Given the description of an element on the screen output the (x, y) to click on. 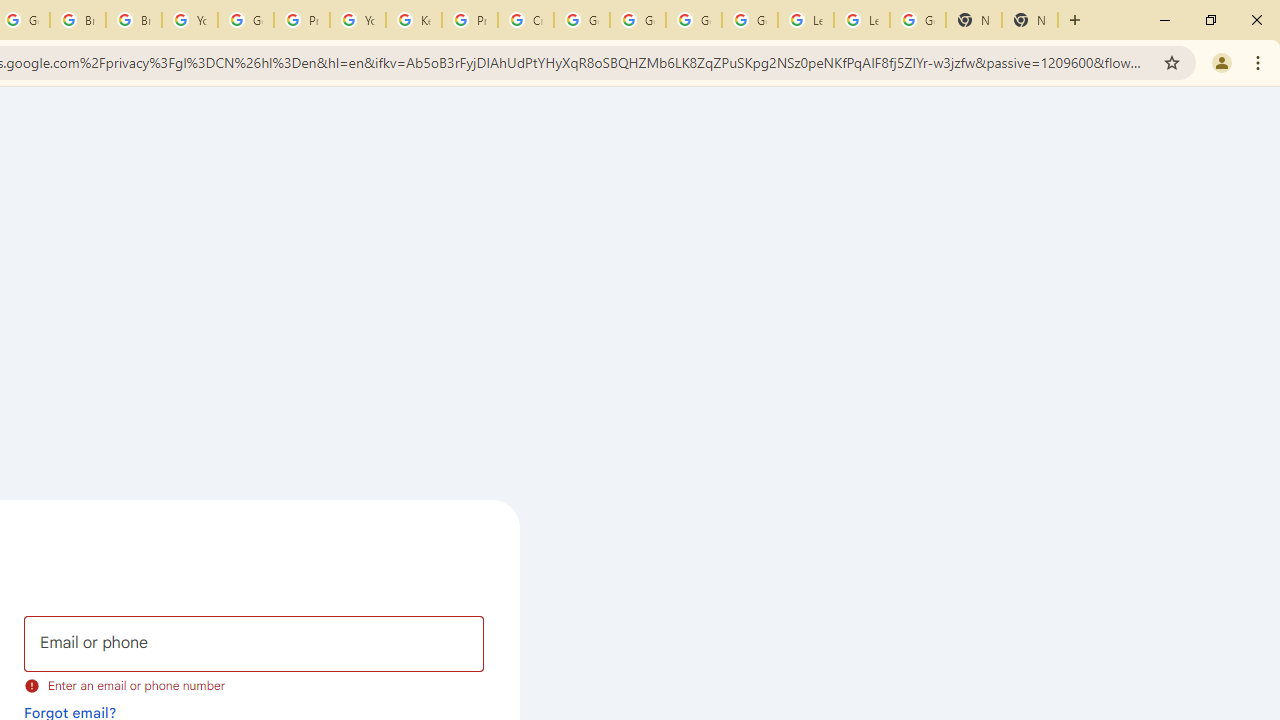
Create your Google Account (525, 20)
New Tab (973, 20)
Google Account (917, 20)
Google Account Help (245, 20)
Google Account Help (749, 20)
Brand Resource Center (77, 20)
YouTube (189, 20)
